Given the description of an element on the screen output the (x, y) to click on. 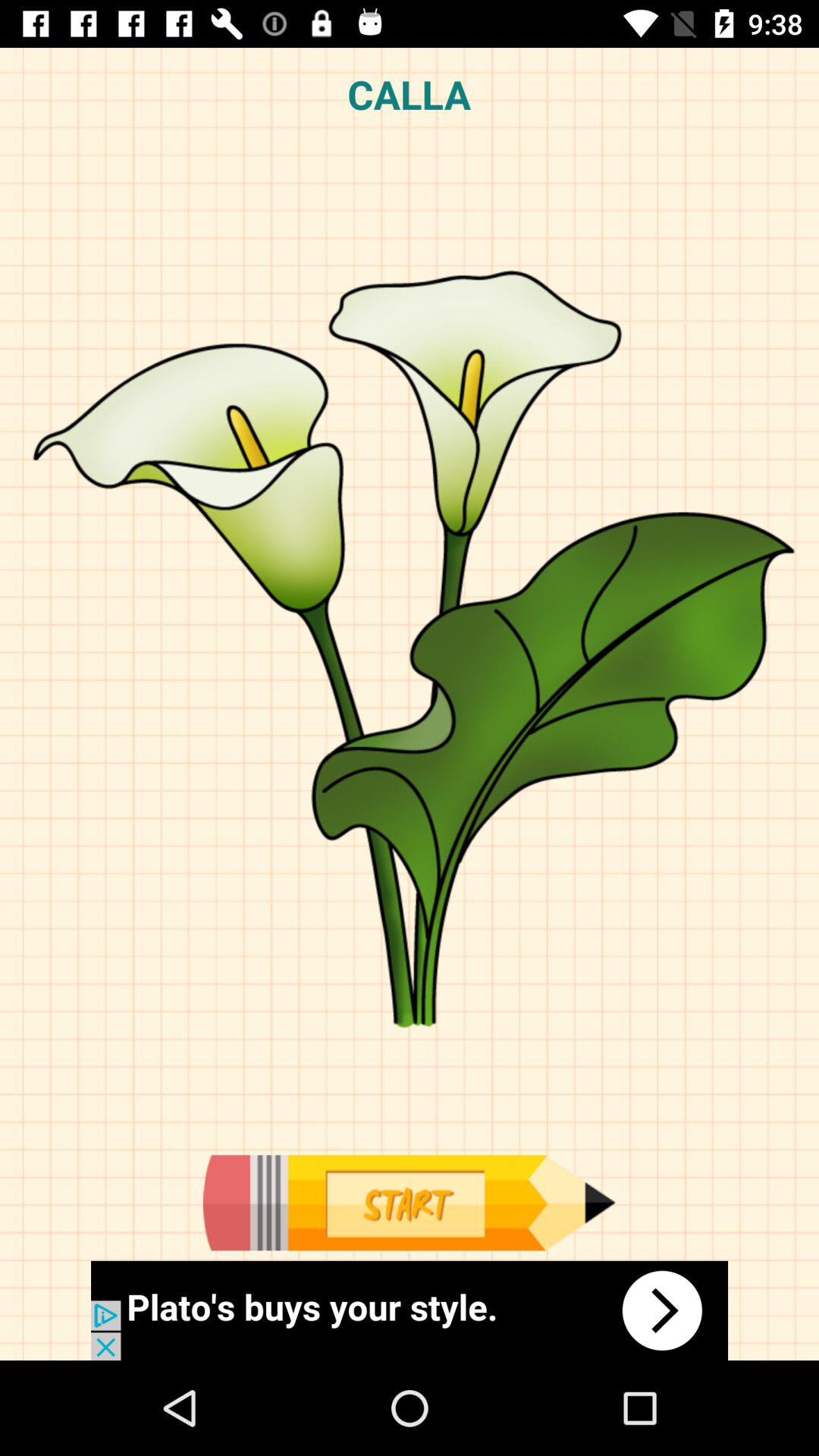
advertisement page (409, 1310)
